Given the description of an element on the screen output the (x, y) to click on. 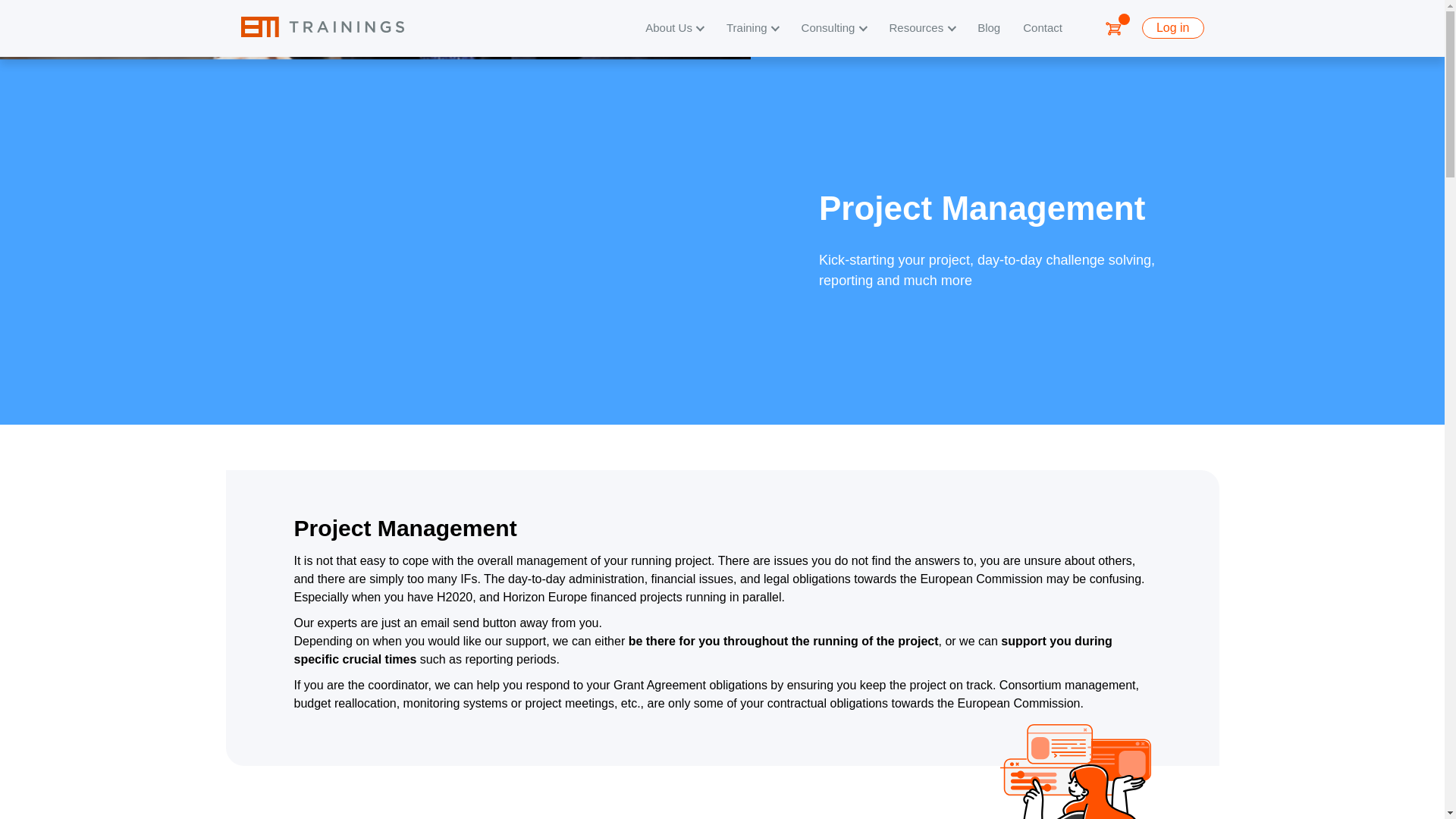
Training (752, 28)
Home (322, 27)
Consulting (833, 28)
Contact (1042, 28)
Resources (921, 28)
Log in (1172, 27)
About Us (673, 28)
